Given the description of an element on the screen output the (x, y) to click on. 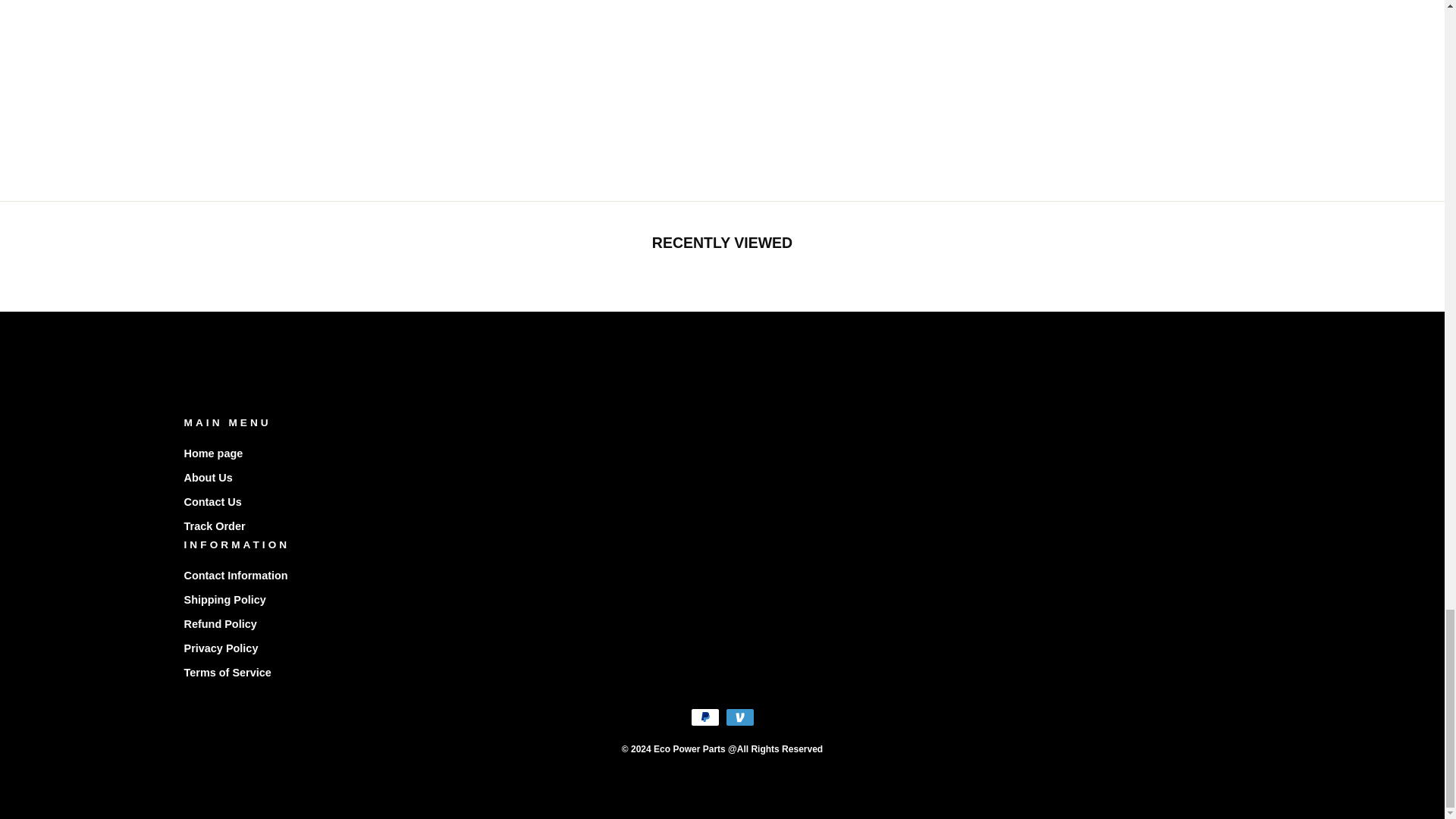
Venmo (739, 717)
PayPal (704, 717)
